Given the description of an element on the screen output the (x, y) to click on. 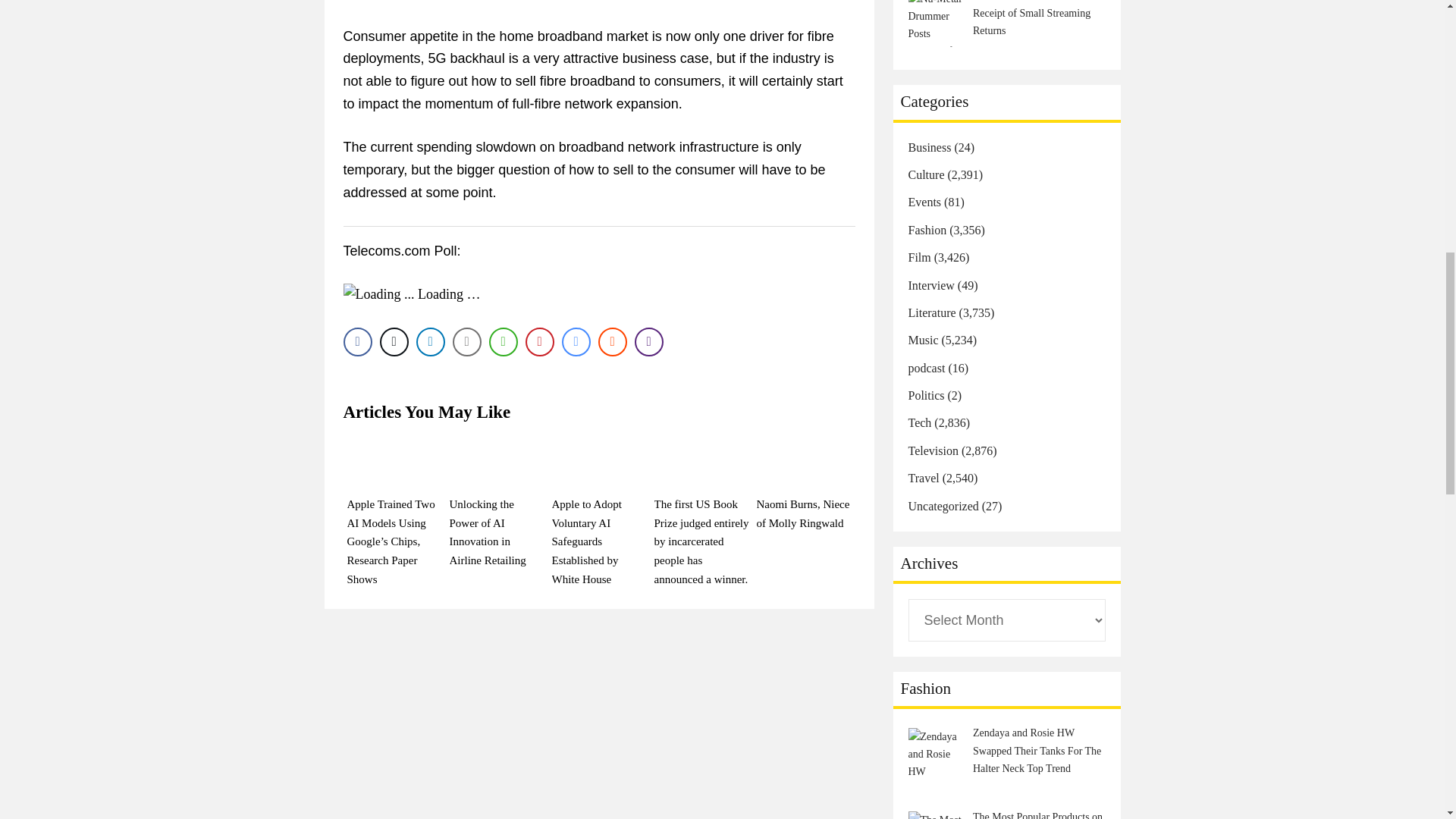
Nu-Metal Drummer Posts Receipt of Small Streaming Returns (936, 23)
Loading ... (377, 294)
